Given the description of an element on the screen output the (x, y) to click on. 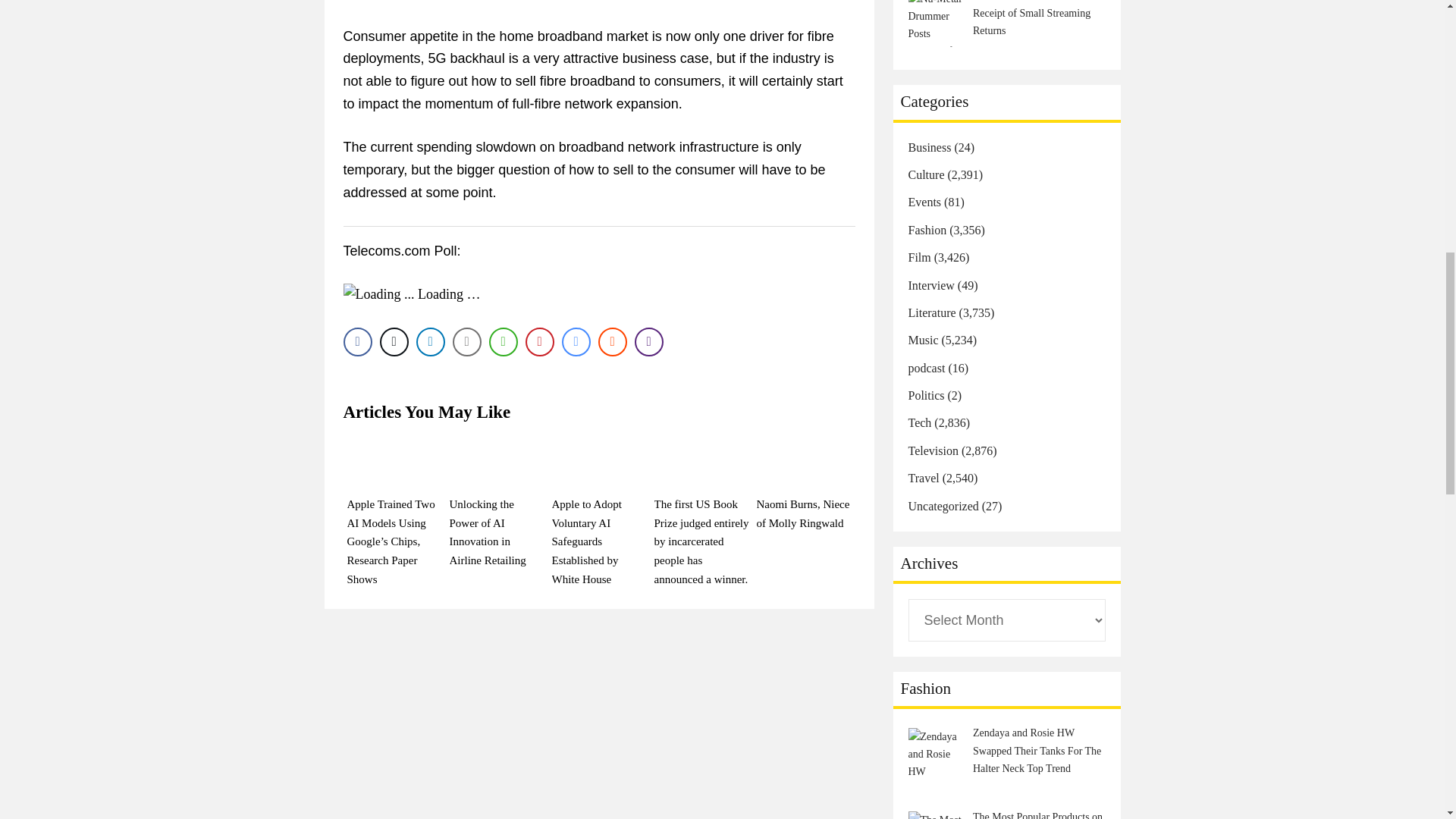
Nu-Metal Drummer Posts Receipt of Small Streaming Returns (936, 23)
Loading ... (377, 294)
